Given the description of an element on the screen output the (x, y) to click on. 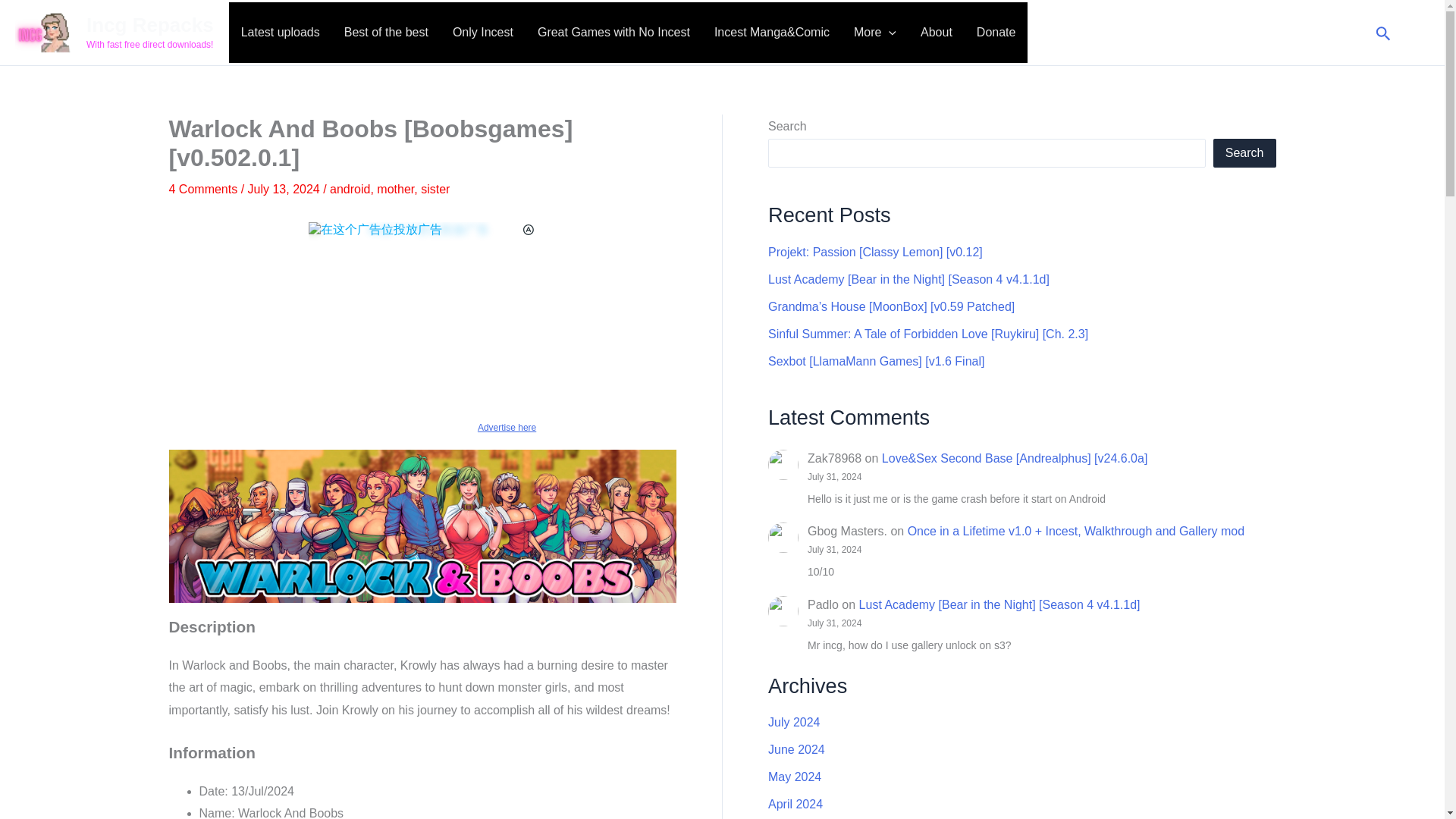
Incg Repacks (149, 24)
Only Incest (483, 32)
Great Games with No Incest (613, 32)
About (935, 32)
mother (395, 188)
sister (434, 188)
4 Comments (202, 188)
Advertise here (421, 427)
android (349, 188)
Donate (995, 32)
More (874, 32)
Best of the best (386, 32)
Latest uploads (279, 32)
